Given the description of an element on the screen output the (x, y) to click on. 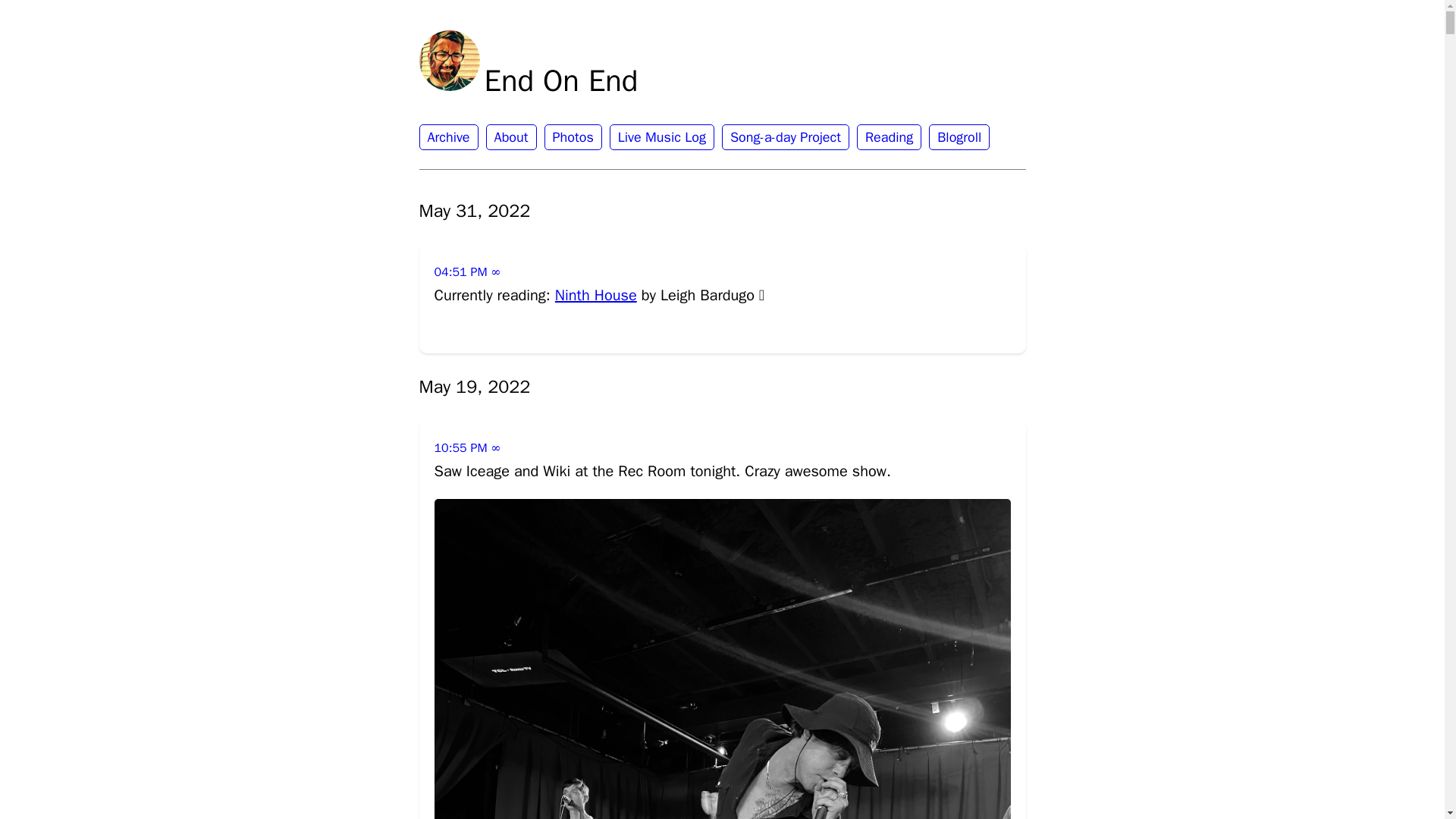
About (511, 136)
Archive (448, 136)
Photos (573, 136)
